Given the description of an element on the screen output the (x, y) to click on. 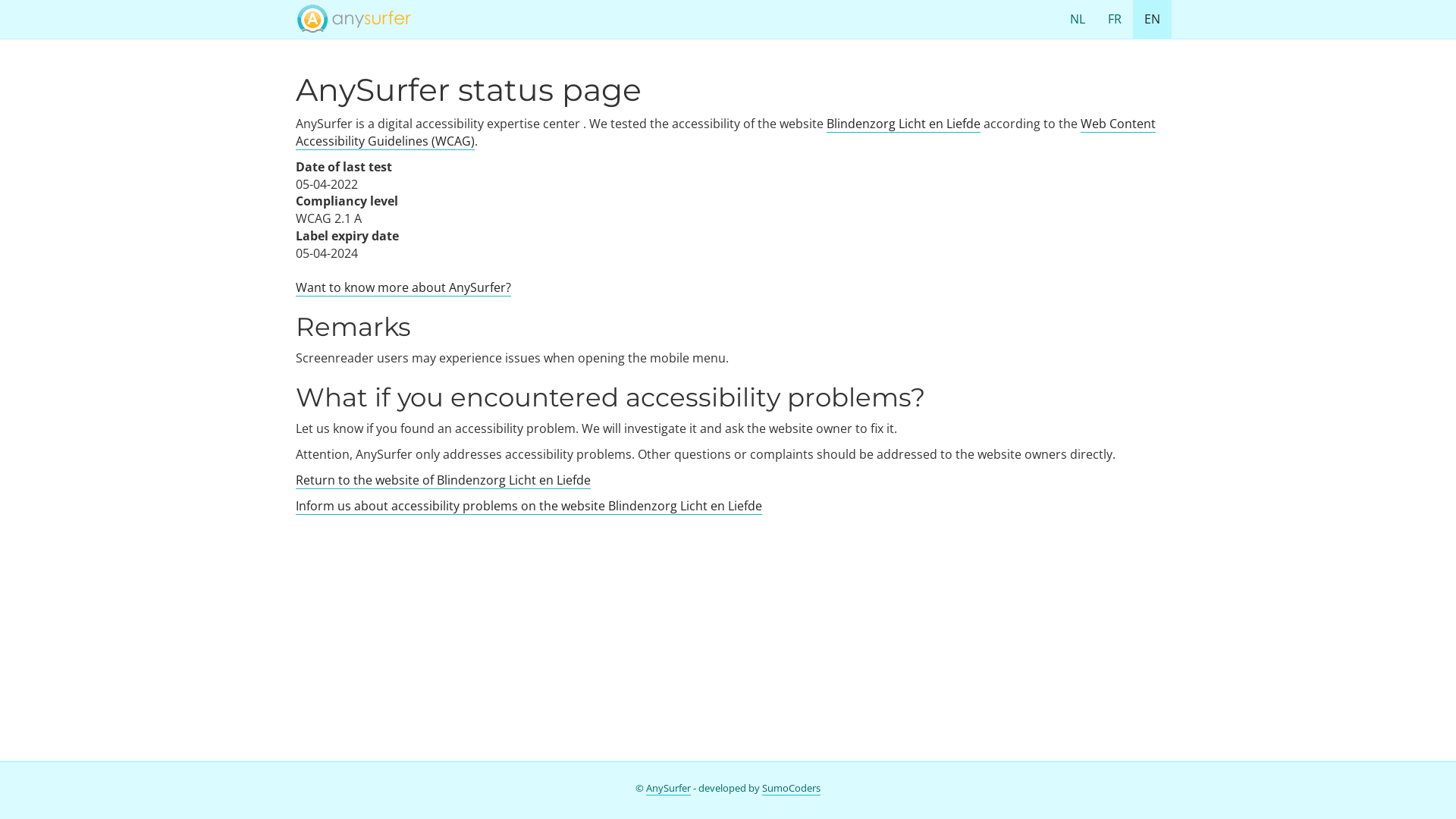
Web Content Accessibility Guidelines (WCAG) Element type: text (725, 132)
EN Element type: text (1151, 19)
Want to know more about AnySurfer? Element type: text (403, 287)
Blindenzorg Licht en Liefde Element type: text (903, 123)
SumoCoders Element type: text (791, 788)
NL Element type: text (1077, 18)
AnySurfer Element type: text (668, 788)
FR Element type: text (1114, 18)
Return to the website of Blindenzorg Licht en Liefde Element type: text (442, 480)
